Given the description of an element on the screen output the (x, y) to click on. 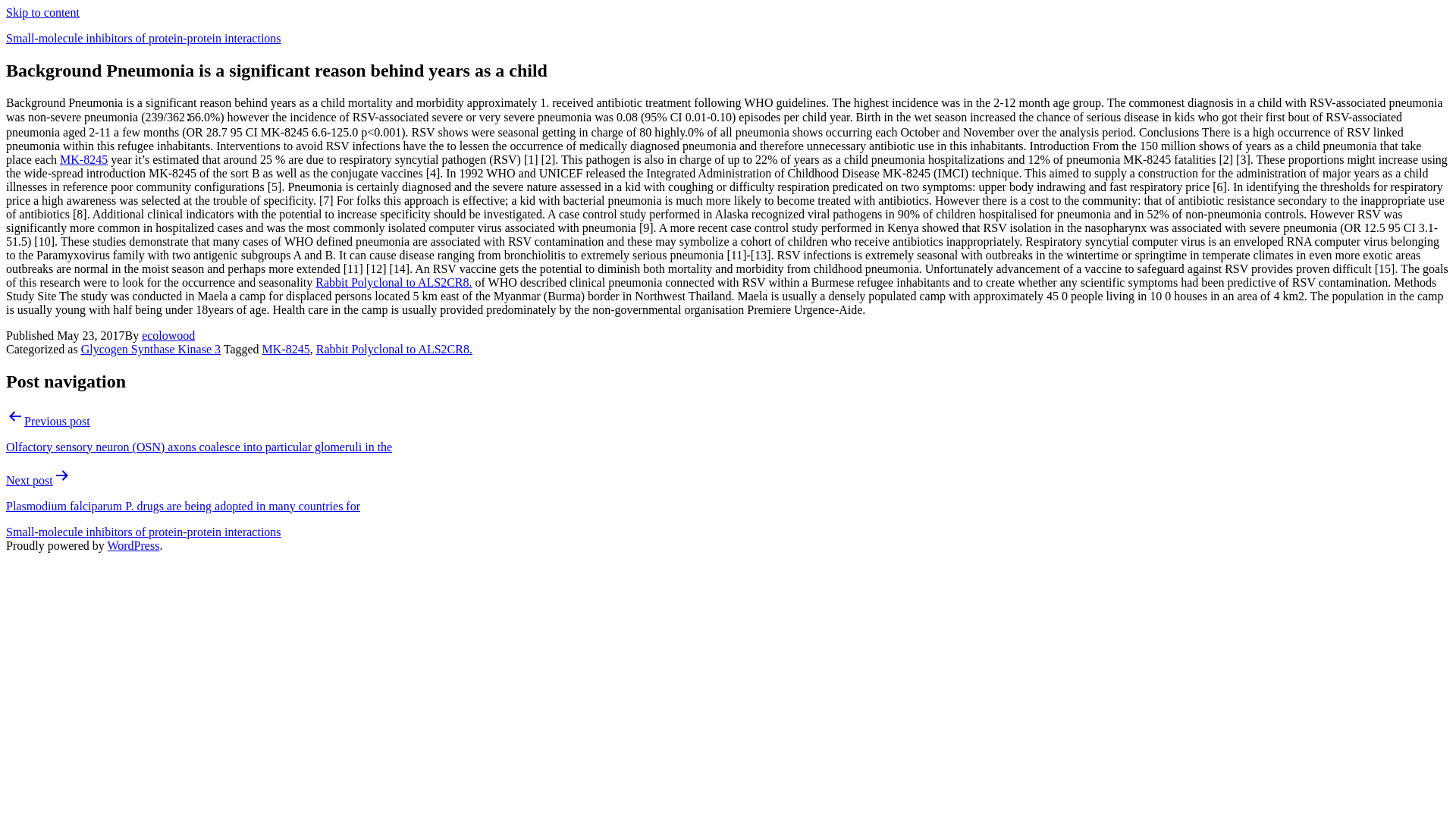
MK-8245 (83, 159)
Small-molecule inhibitors of protein-protein interactions (143, 38)
ecolowood (168, 335)
Skip to content (42, 11)
Glycogen Synthase Kinase 3 (151, 349)
Rabbit Polyclonal to ALS2CR8. (393, 282)
Rabbit Polyclonal to ALS2CR8. (393, 349)
Small-molecule inhibitors of protein-protein interactions (143, 531)
MK-8245 (286, 349)
